Given the description of an element on the screen output the (x, y) to click on. 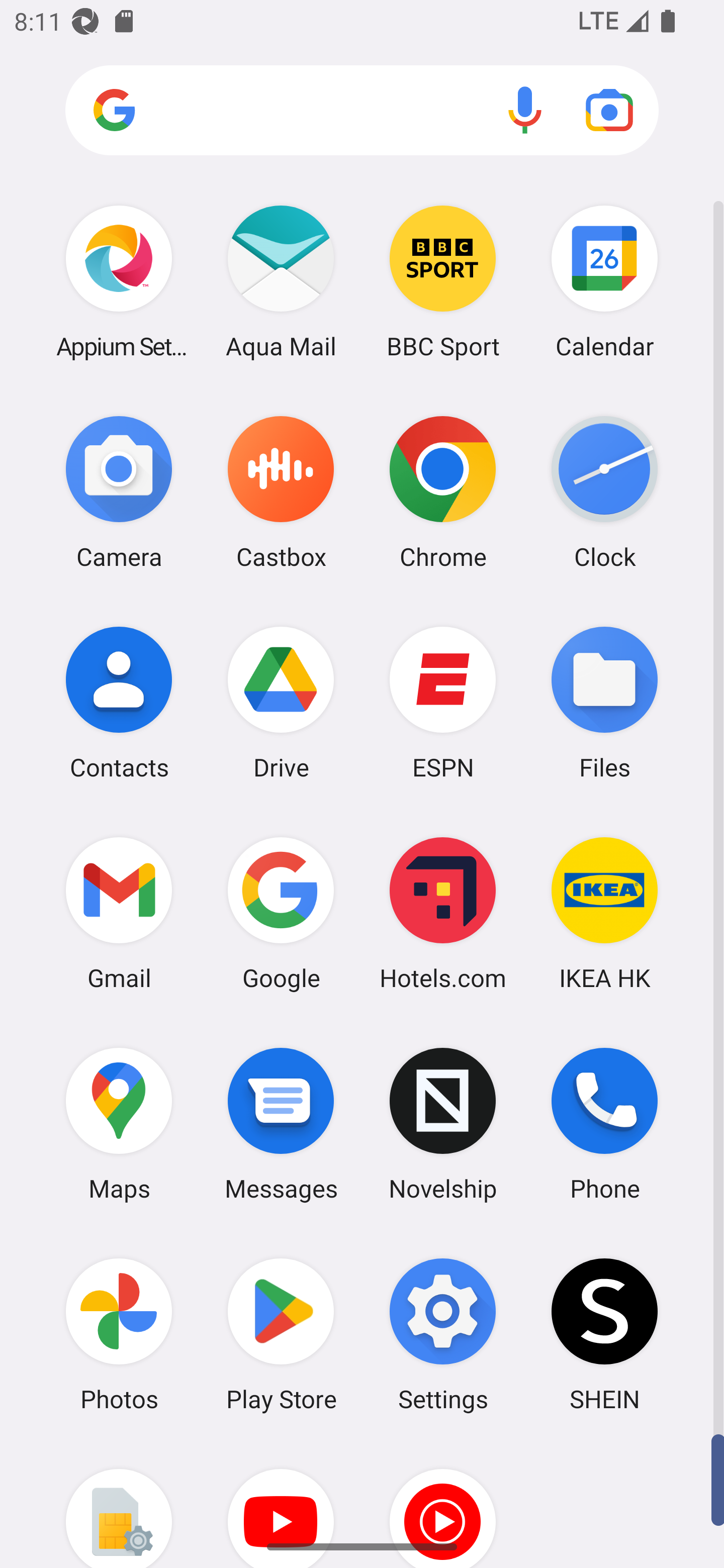
Search apps, web and more (361, 110)
Voice search (524, 109)
Google Lens (608, 109)
Appium Settings (118, 281)
Aqua Mail (280, 281)
BBC Sport (443, 281)
Calendar (604, 281)
Camera (118, 492)
Castbox (280, 492)
Chrome (443, 492)
Clock (604, 492)
Contacts (118, 702)
Drive (280, 702)
ESPN (443, 702)
Files (604, 702)
Gmail (118, 913)
Google (280, 913)
Hotels.com (443, 913)
IKEA HK (604, 913)
Maps (118, 1124)
Messages (280, 1124)
Novelship (443, 1124)
Phone (604, 1124)
Photos (118, 1334)
Play Store (280, 1334)
Settings (443, 1334)
SHEIN (604, 1334)
TMoble (118, 1503)
YouTube (280, 1503)
YT Music (443, 1503)
